Given the description of an element on the screen output the (x, y) to click on. 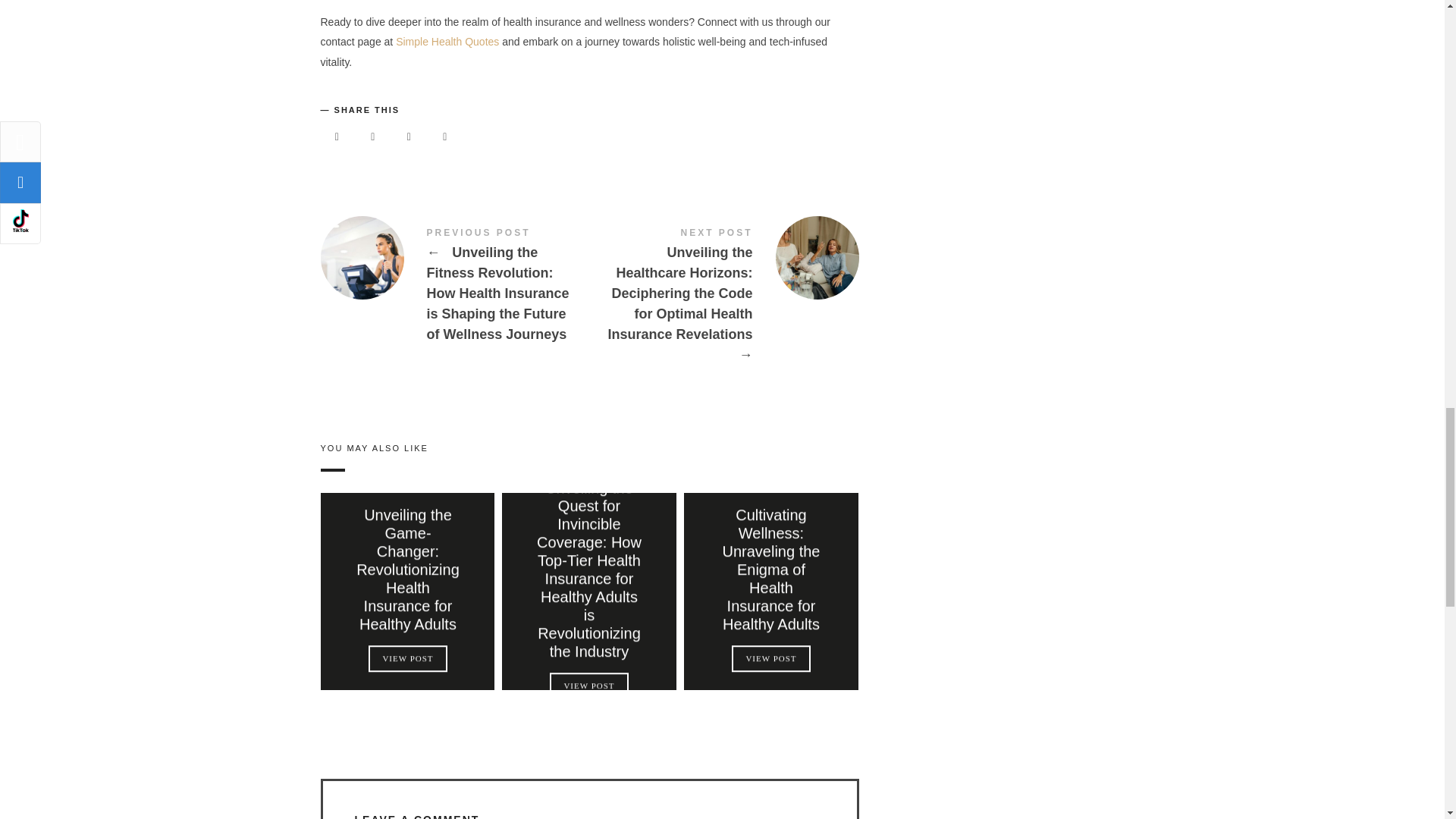
Email this post to a friend (444, 135)
VIEW POST (407, 659)
Tweet this post to your followers (373, 135)
VIEW POST (771, 659)
VIEW POST (589, 686)
Share this post on Facebook (336, 135)
Pin it (408, 135)
Simple Health Quotes (447, 41)
